Given the description of an element on the screen output the (x, y) to click on. 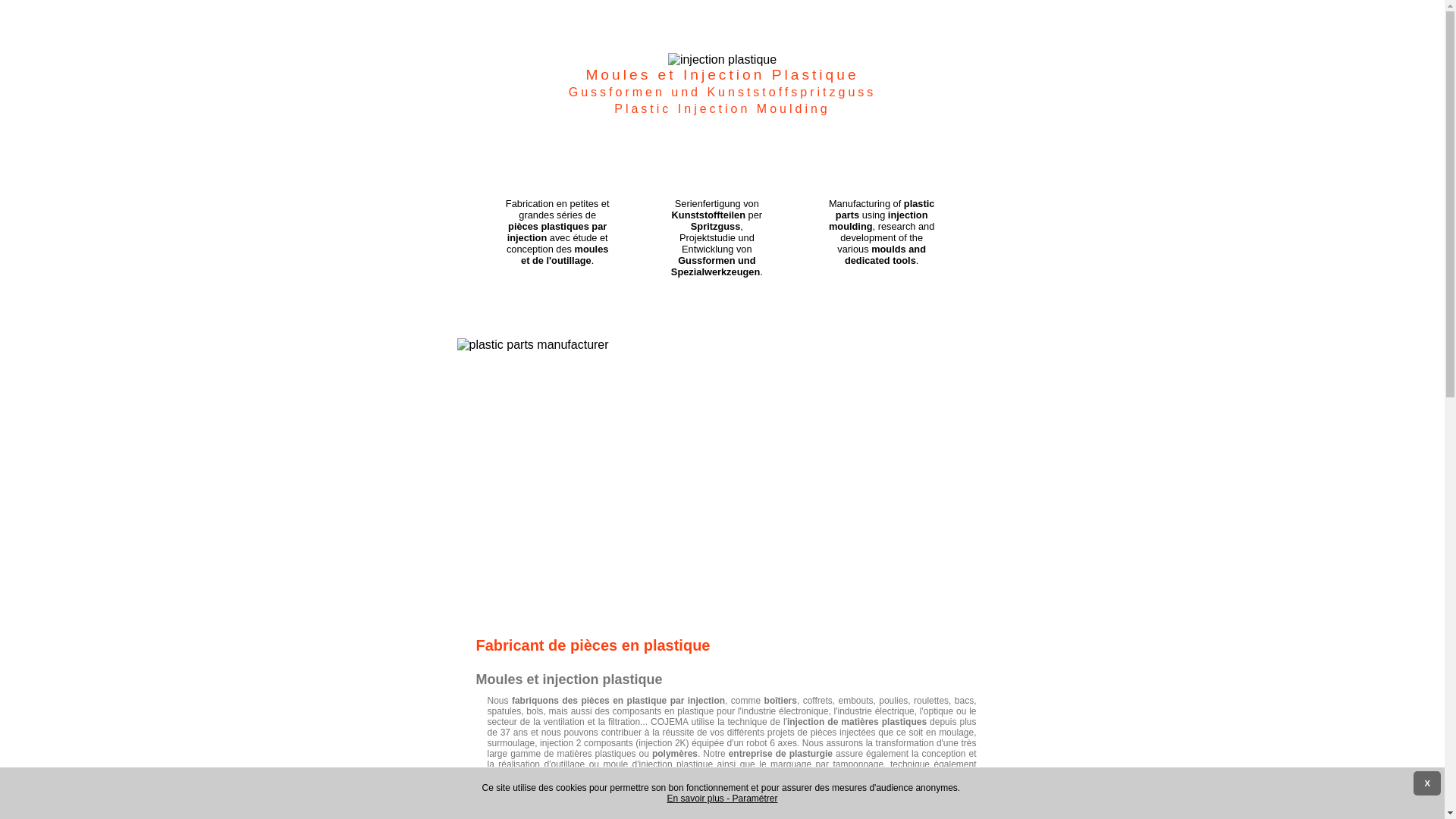
X Element type: text (1426, 783)
